Given the description of an element on the screen output the (x, y) to click on. 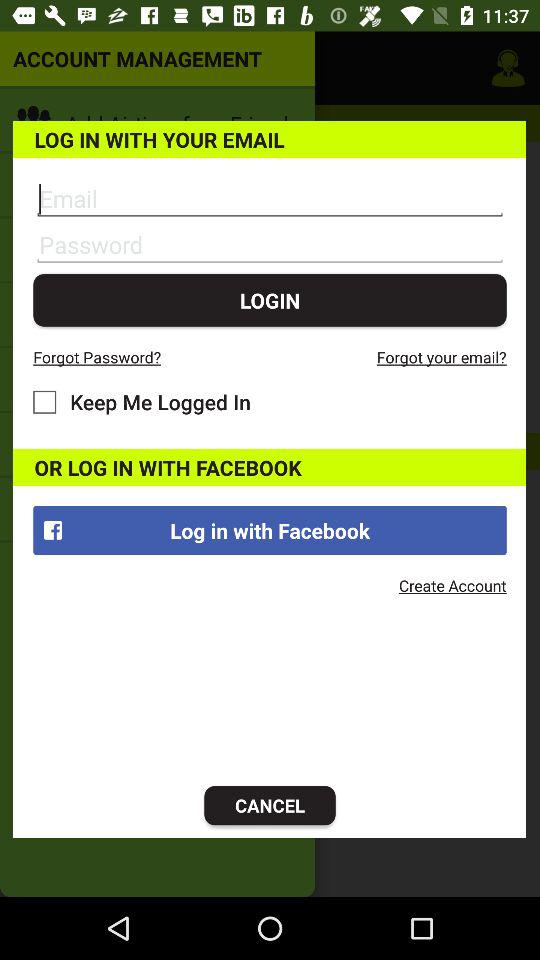
click the item below forgot password? (141, 401)
